Given the description of an element on the screen output the (x, y) to click on. 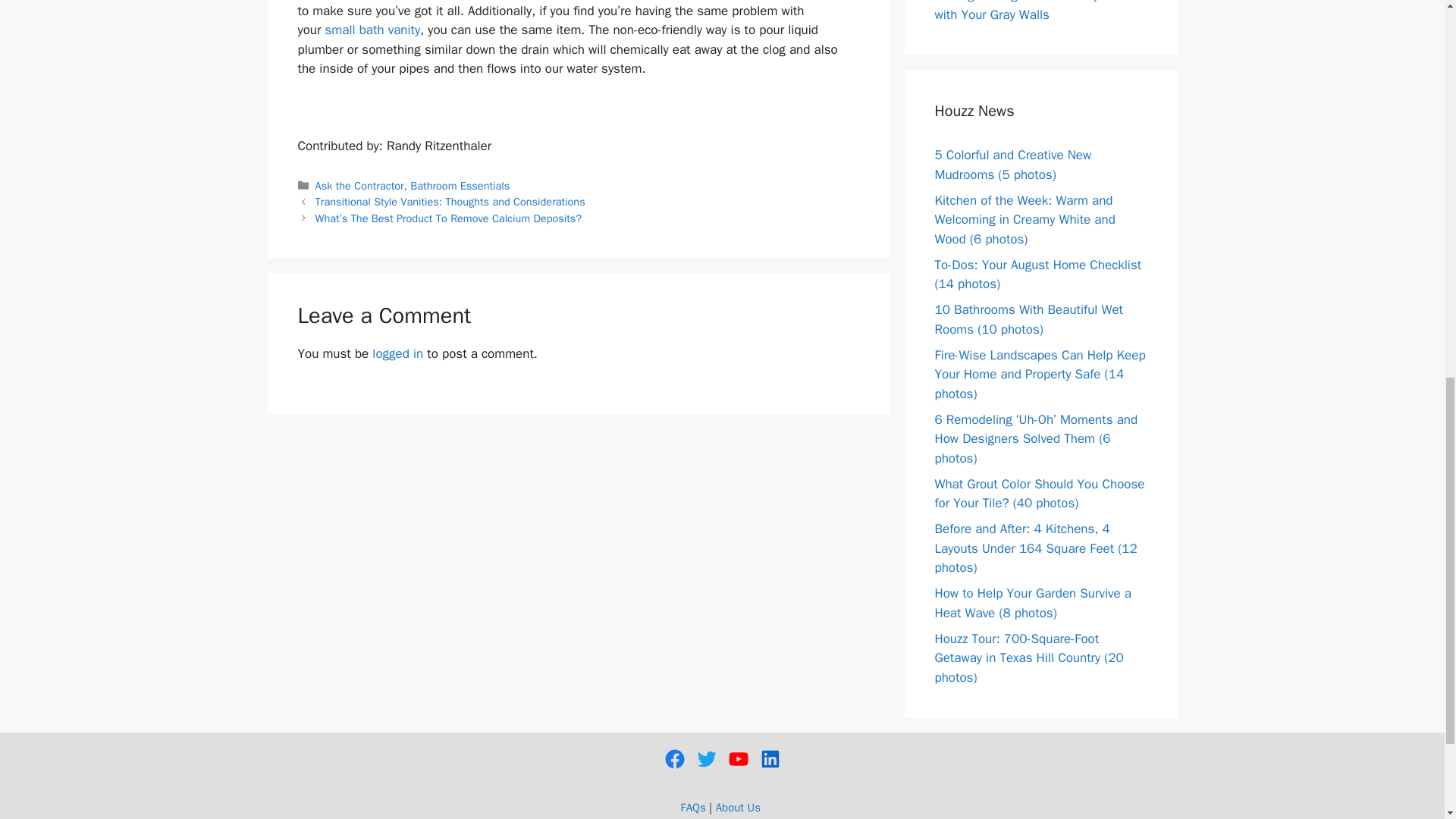
FAQs (693, 807)
About Us (738, 807)
Scroll back to top (1406, 720)
